Given the description of an element on the screen output the (x, y) to click on. 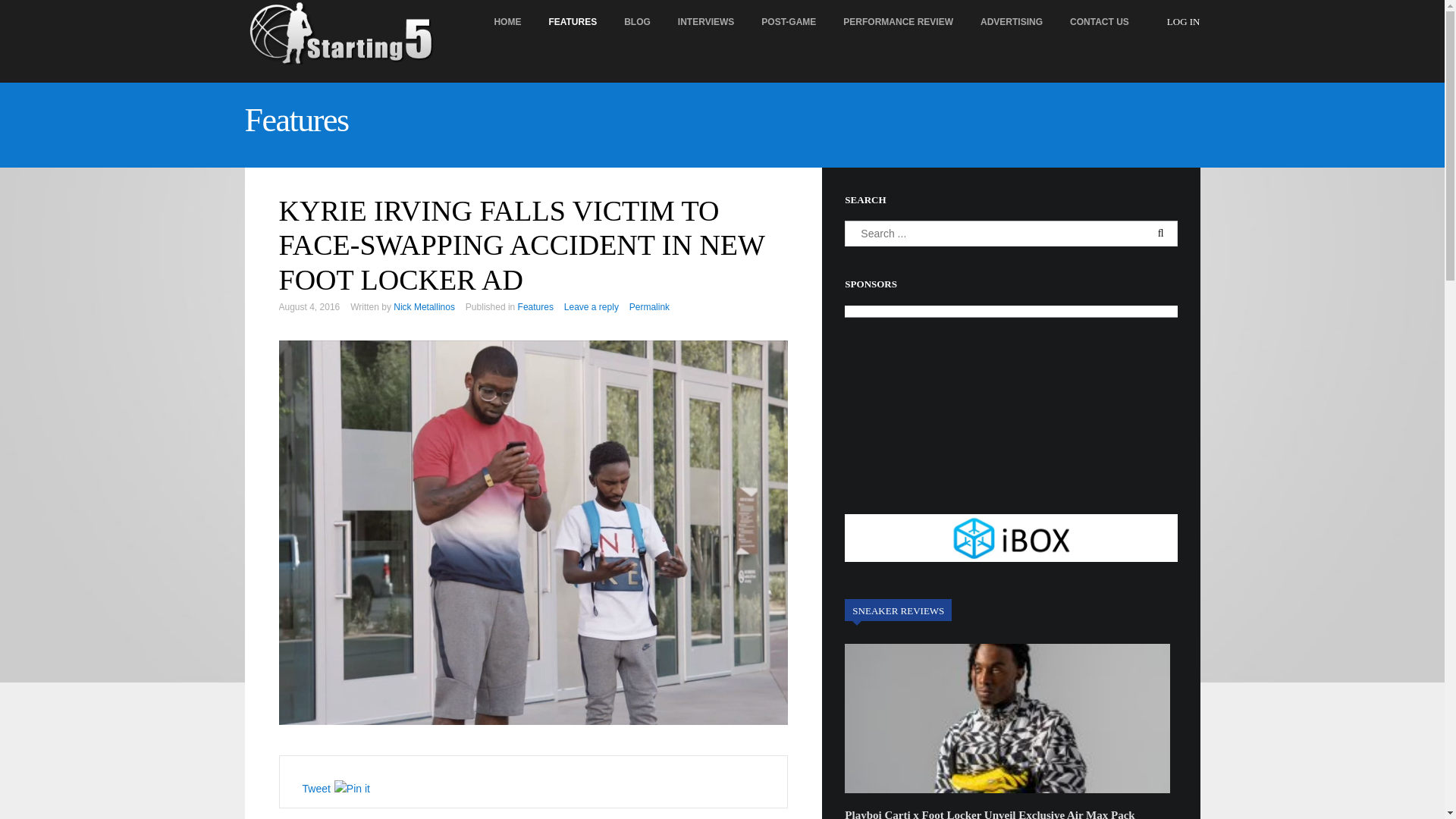
Pin it (351, 788)
HOME (507, 22)
FEATURES (572, 22)
Features (295, 119)
Permalink (648, 307)
CONTACT US (1099, 22)
Post Game Videos (788, 22)
Playboi Carti x Foot Locker Unveil Exclusive Air Max Pack (989, 814)
Playboi Carti x Foot Locker Unveil Exclusive Air Max Pack (989, 814)
Search (39, 14)
Features (535, 307)
INTERVIEWS (705, 22)
PERFORMANCE REVIEW (897, 22)
